Given the description of an element on the screen output the (x, y) to click on. 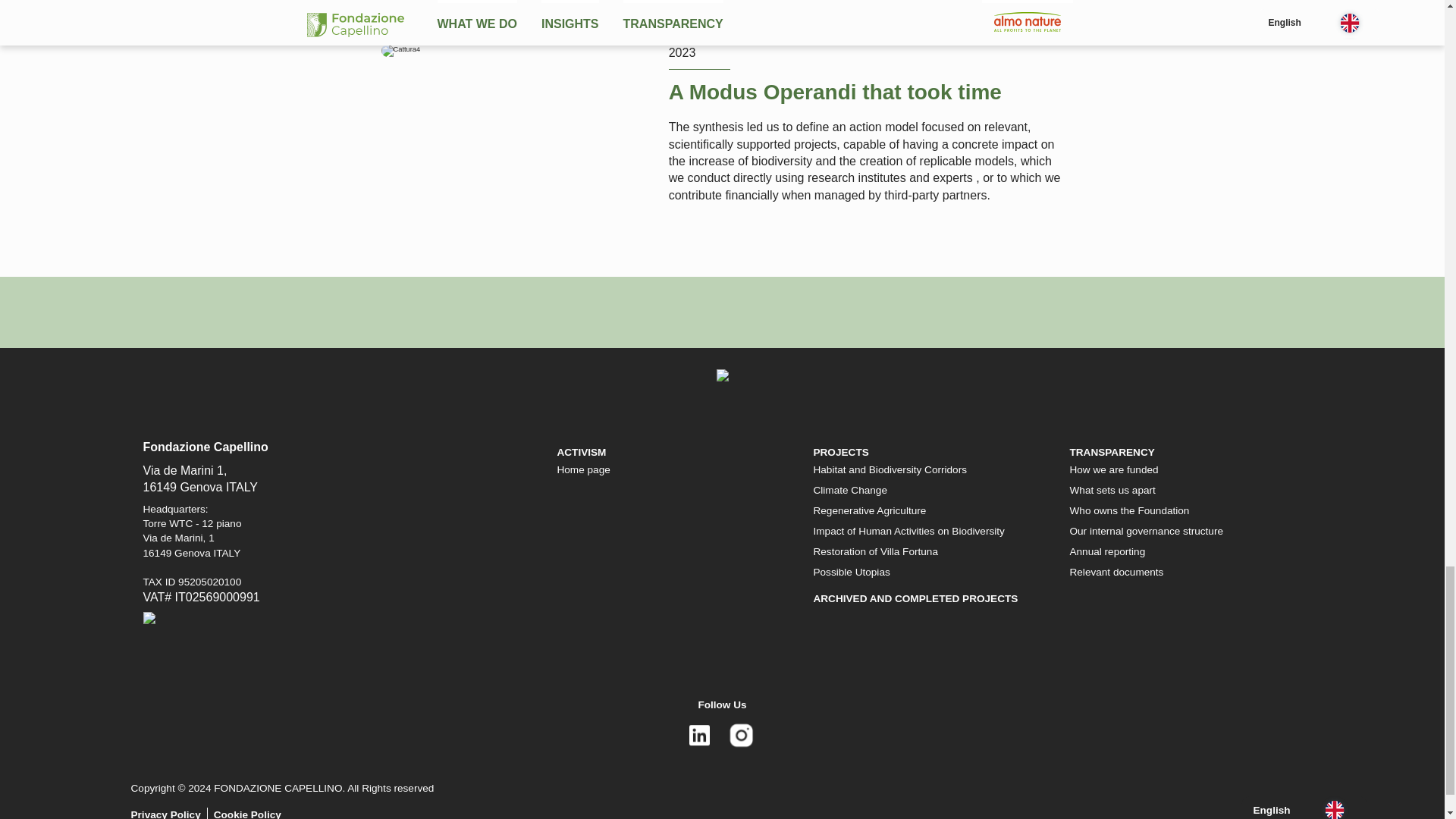
Habitat and Biodiversity Corridors (889, 469)
How we are funded (1112, 469)
Possible Utopias (850, 572)
Regenerative Agriculture (869, 510)
Climate Change (849, 490)
What sets us apart (1111, 490)
Home page (583, 469)
Who owns the Foundation (1128, 510)
ARCHIVED AND COMPLETED PROJECTS (914, 598)
Impact of Human Activities on Biodiversity (908, 531)
Restoration of Villa Fortuna (874, 551)
